Given the description of an element on the screen output the (x, y) to click on. 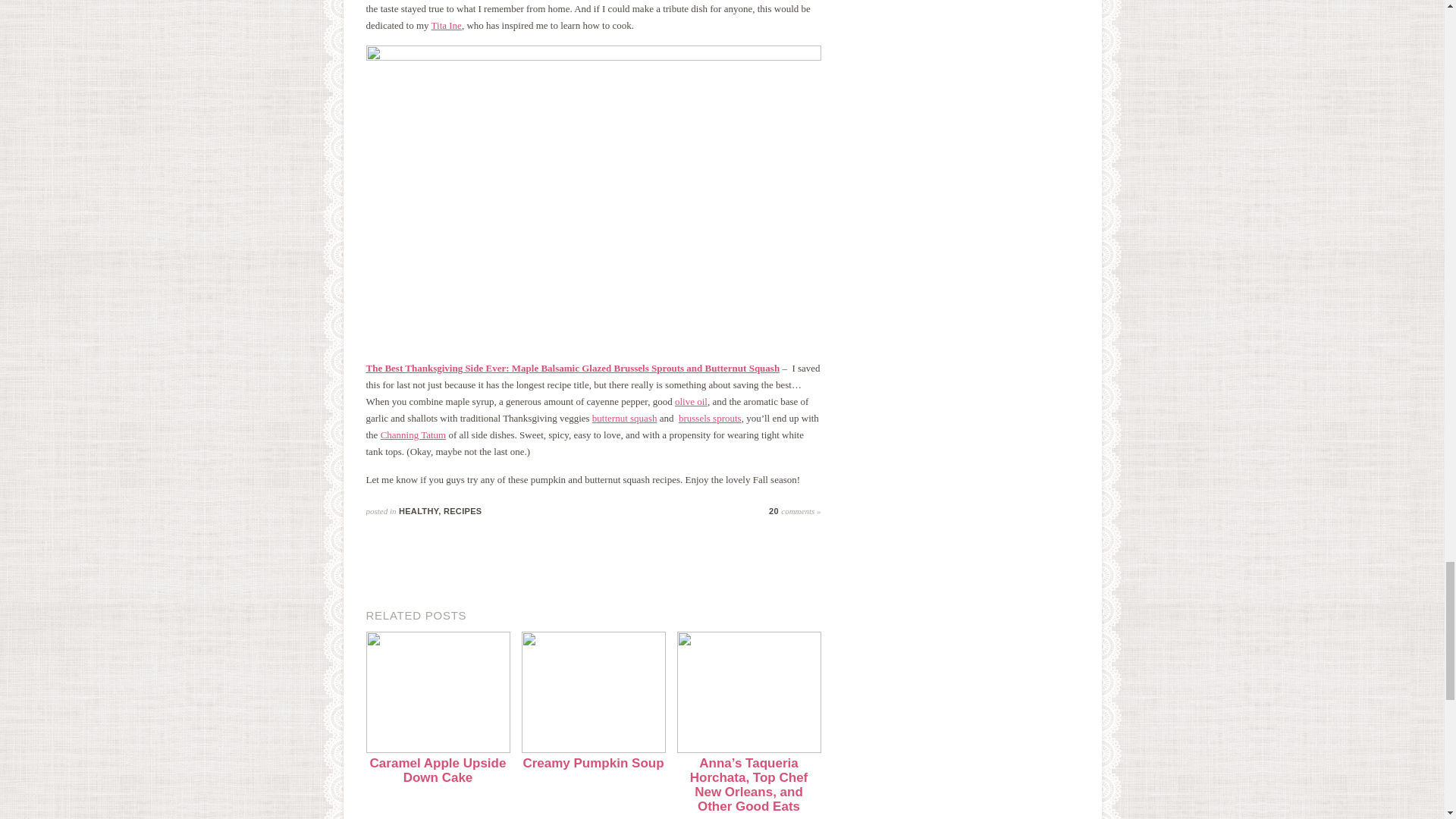
Caramel Apple Upside Down Cake (437, 764)
Tita Ine (445, 25)
Channing Tatum (413, 434)
butternut squash (625, 418)
HEALTHY (418, 510)
brussels sprouts (709, 418)
Creamy Pumpkin Soup (593, 757)
olive oil (691, 401)
